Given the description of an element on the screen output the (x, y) to click on. 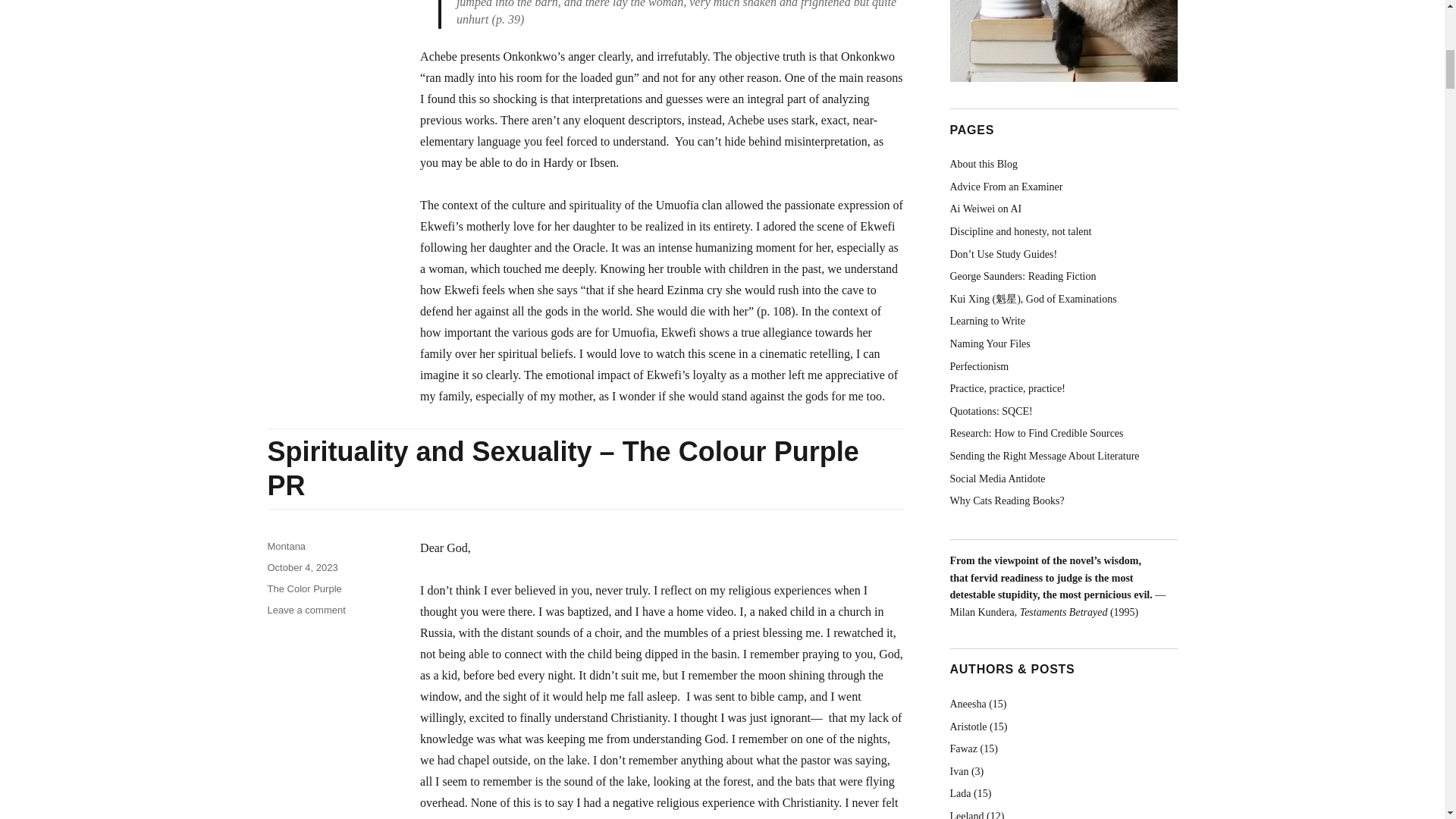
Posts by Aneesha (967, 704)
Posts by Lada (960, 793)
Posts by Fawaz (962, 748)
Posts by Ivan (958, 771)
The Color Purple (303, 588)
Posts by Aristotle (968, 726)
Montana (285, 546)
Posts by Leeland (966, 814)
October 4, 2023 (301, 567)
